Given the description of an element on the screen output the (x, y) to click on. 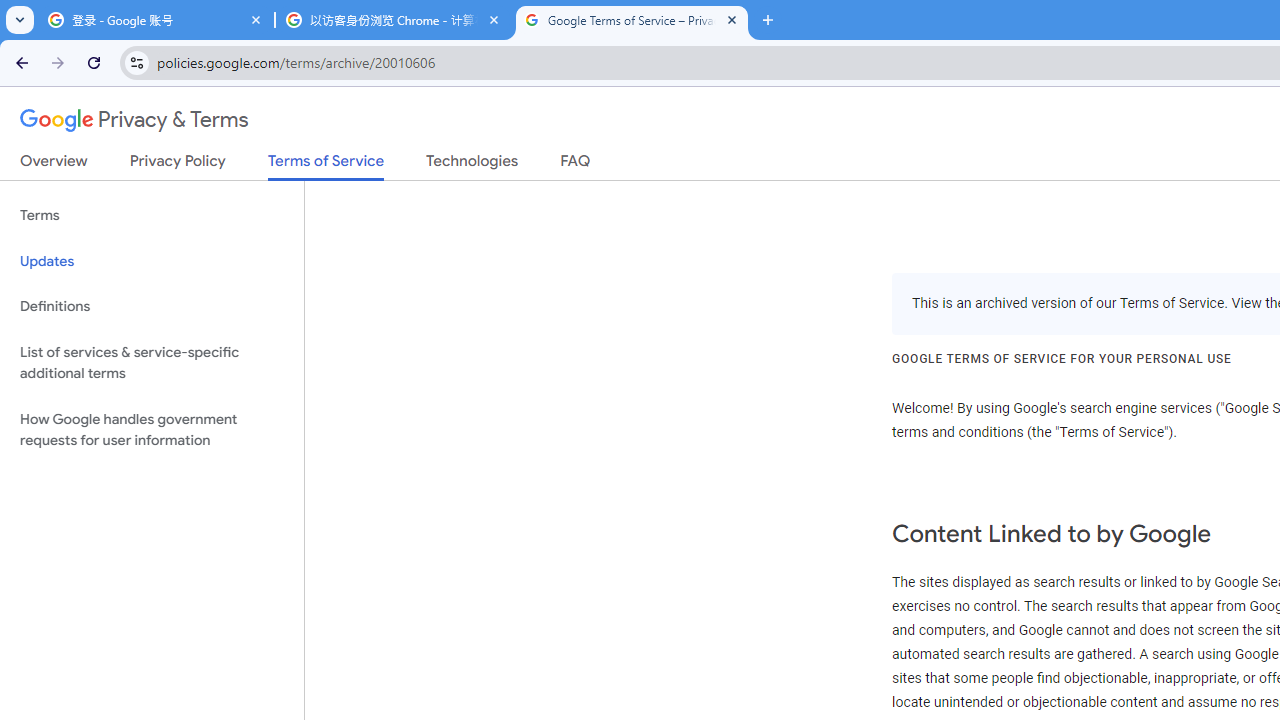
List of services & service-specific additional terms (152, 362)
